Given the description of an element on the screen output the (x, y) to click on. 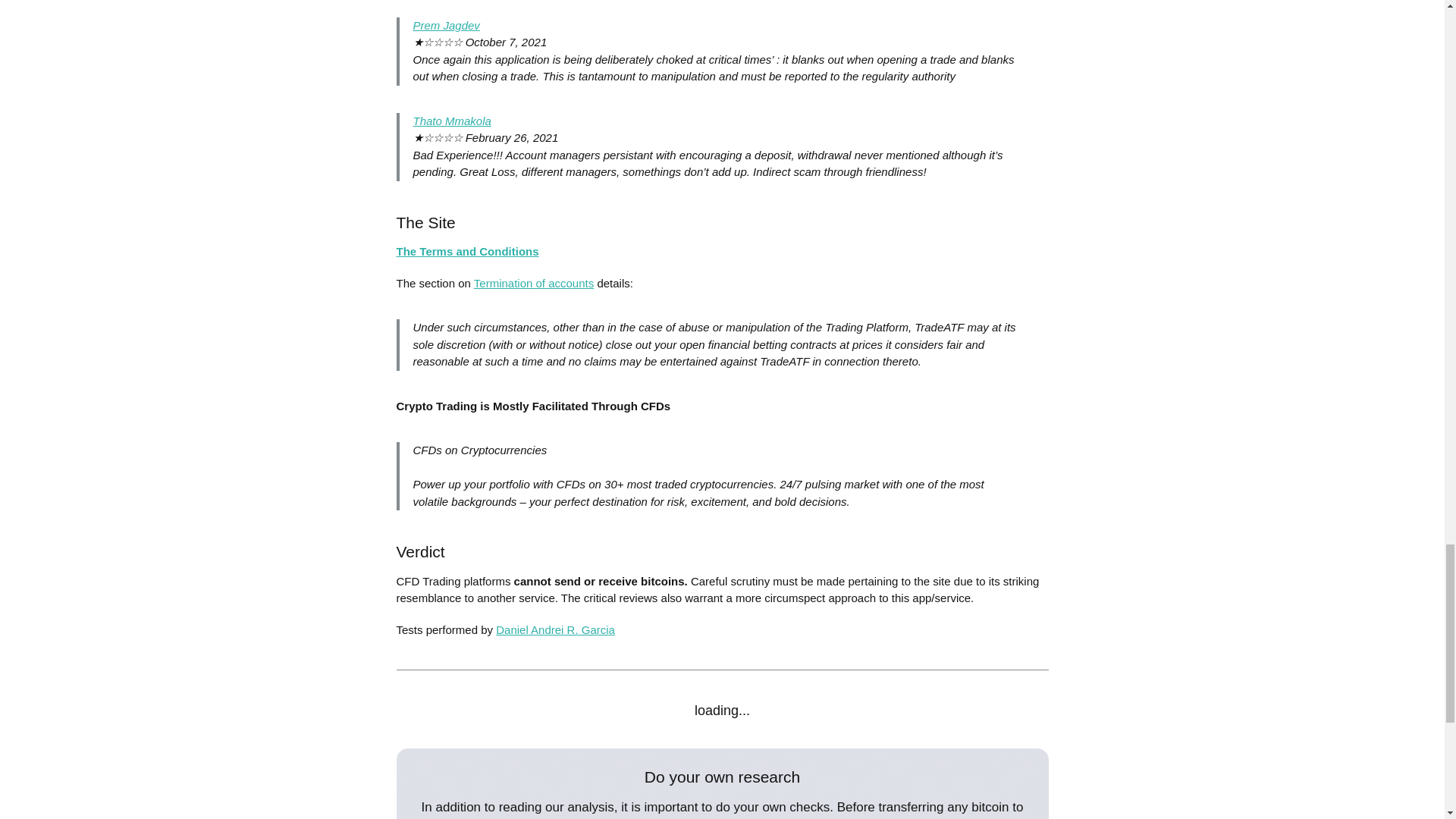
Thato Mmakola (451, 120)
Daniel Andrei R. Garcia (555, 629)
Termination of accounts (534, 282)
Prem Jagdev (445, 24)
The Terms and Conditions (467, 250)
